Given the description of an element on the screen output the (x, y) to click on. 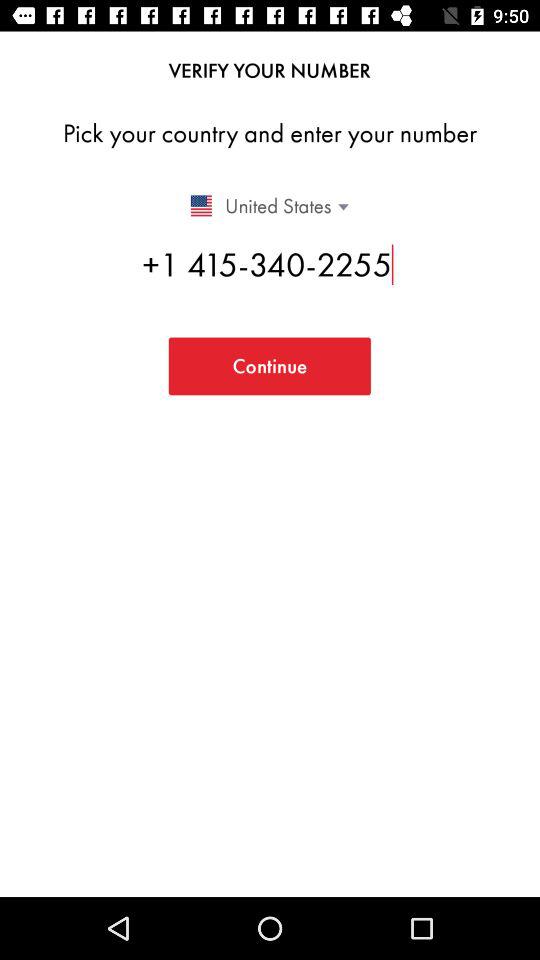
swipe until the continue (269, 366)
